Given the description of an element on the screen output the (x, y) to click on. 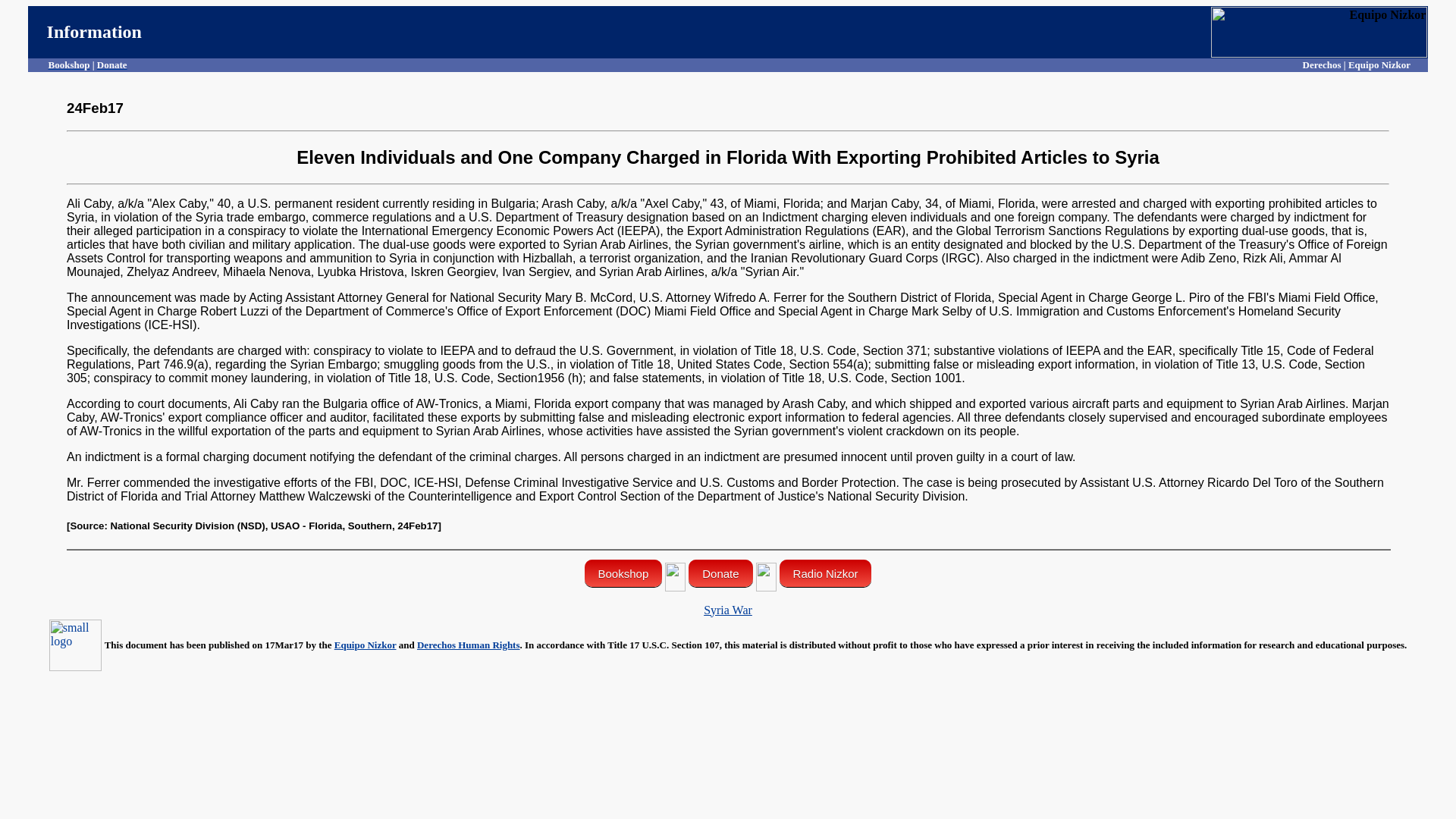
Donate (112, 64)
Donate (720, 573)
Bookshop (69, 64)
Bookshop (623, 573)
Derechos Human Rights (467, 644)
Radio Nizkor (825, 573)
Equipo Nizkor (365, 644)
Syria War (727, 609)
